Given the description of an element on the screen output the (x, y) to click on. 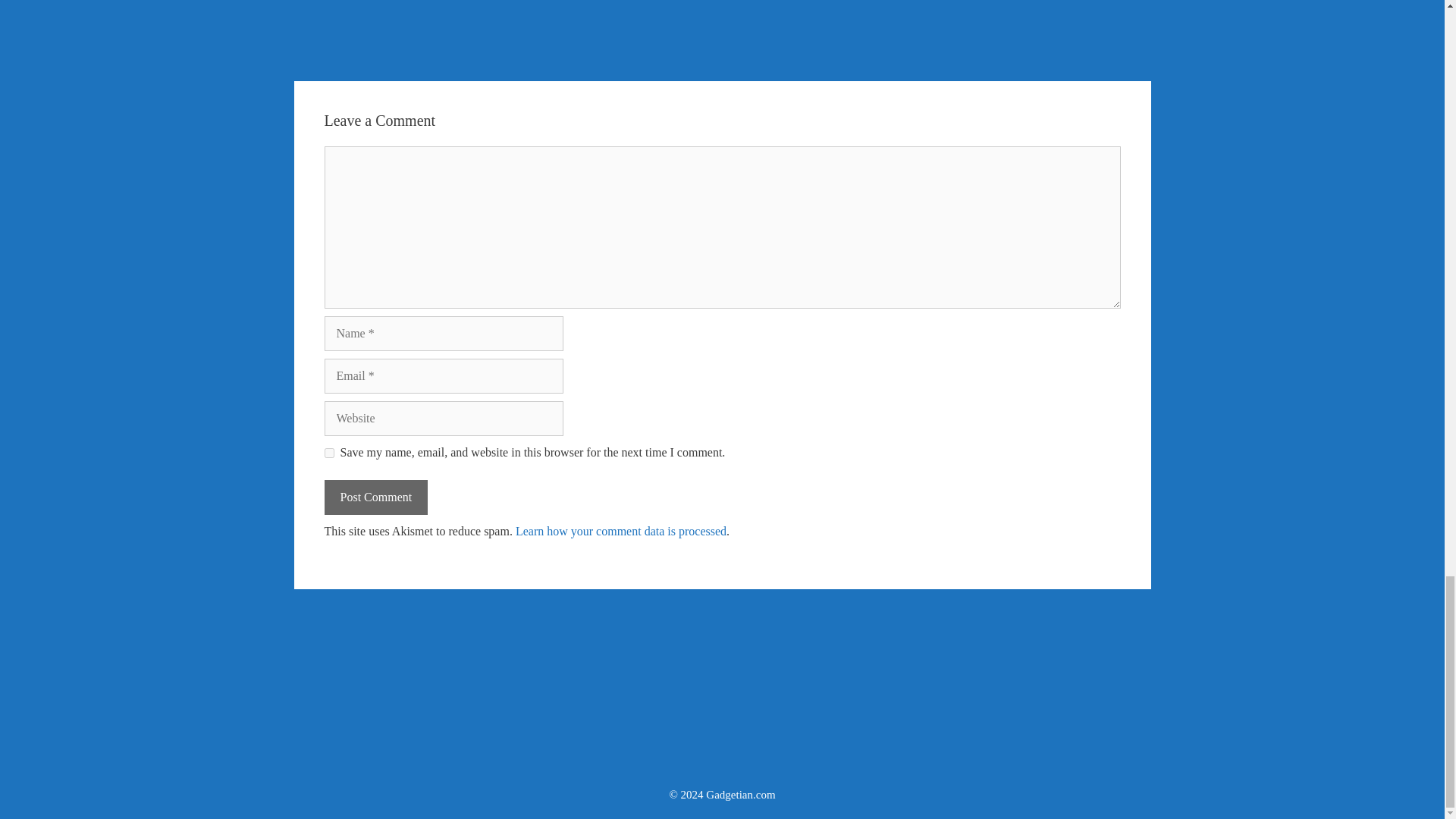
Advertisement (721, 729)
Advertisement (722, 638)
Post Comment (376, 497)
Post Comment (376, 497)
Learn how your comment data is processed (620, 530)
yes (329, 452)
Advertisement (722, 33)
